Given the description of an element on the screen output the (x, y) to click on. 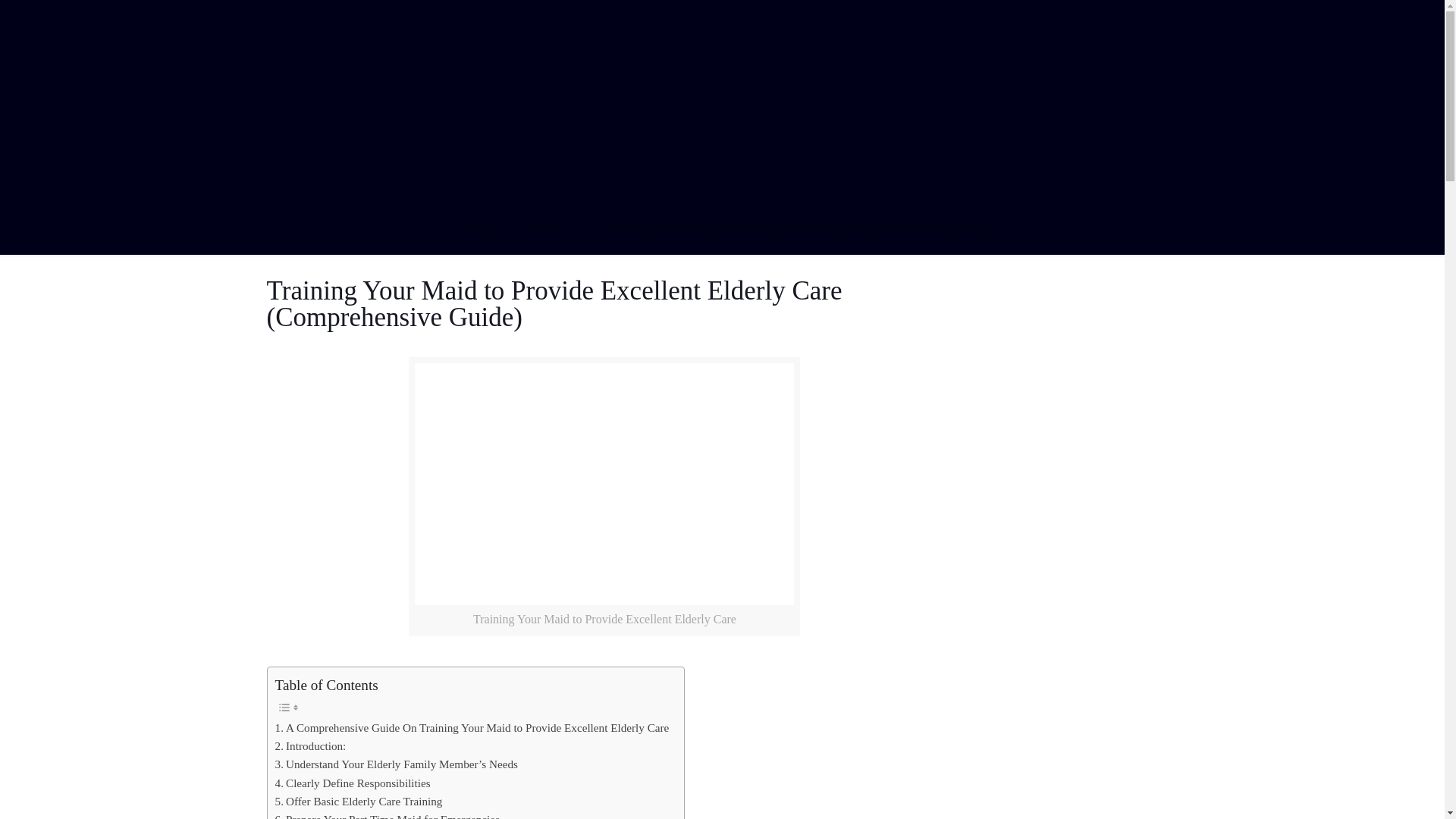
Articles (544, 225)
Clearly Define Responsibilities (352, 782)
Introduction: (310, 746)
Home (476, 225)
Introduction: (310, 746)
Offer Basic Elderly Care Training (358, 801)
Clearly Define Responsibilities (352, 782)
Prepare Your Part Time Maid for Emergencies (387, 814)
